Given the description of an element on the screen output the (x, y) to click on. 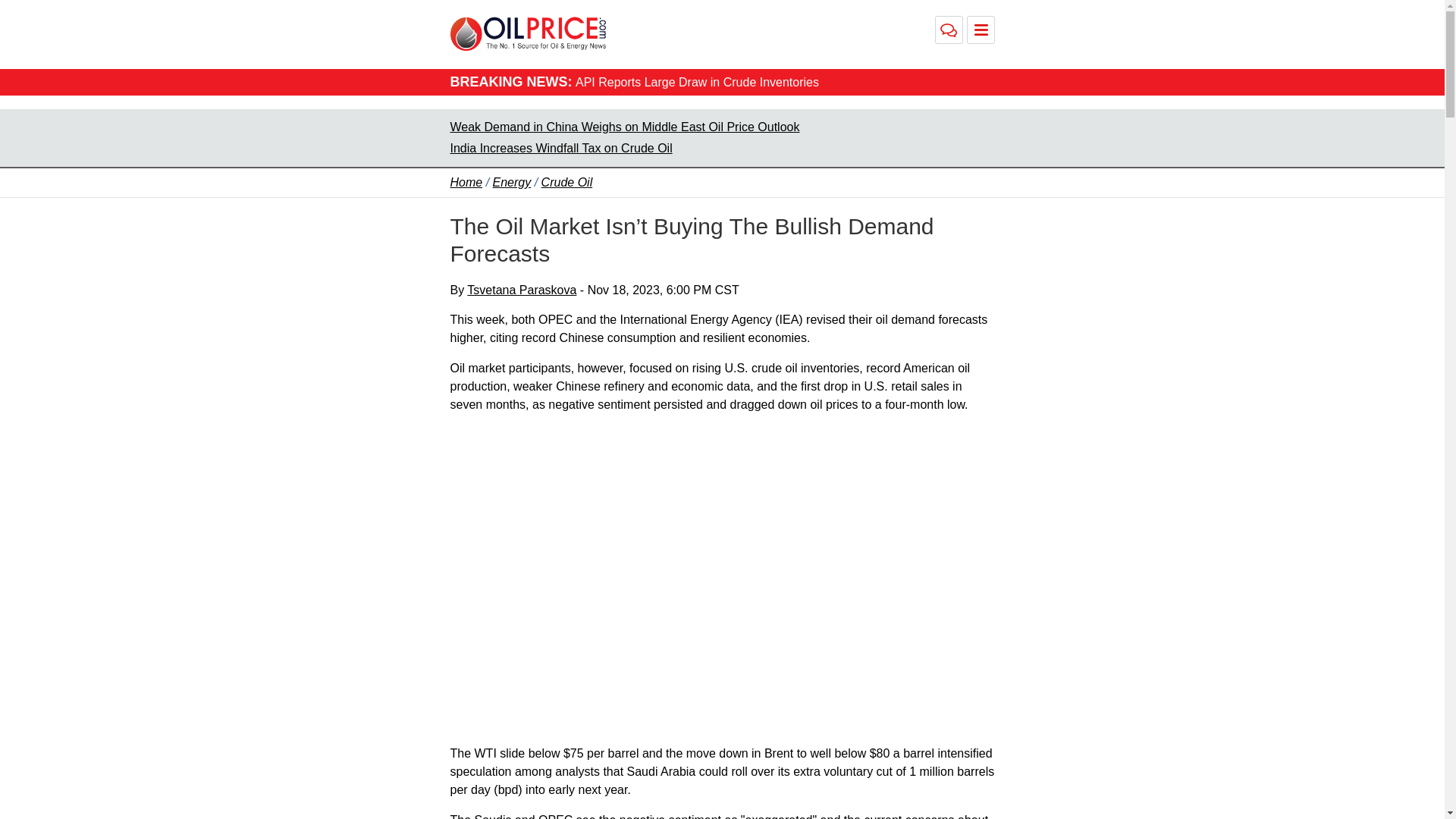
API Reports Large Draw in Crude Inventories (696, 82)
Tsvetana Paraskova (521, 289)
Weak Demand in China Weighs on Middle East Oil Price Outlook (624, 126)
Crude Oil (566, 182)
Energy (512, 182)
Home (466, 182)
India Increases Windfall Tax on Crude Oil (560, 147)
